Given the description of an element on the screen output the (x, y) to click on. 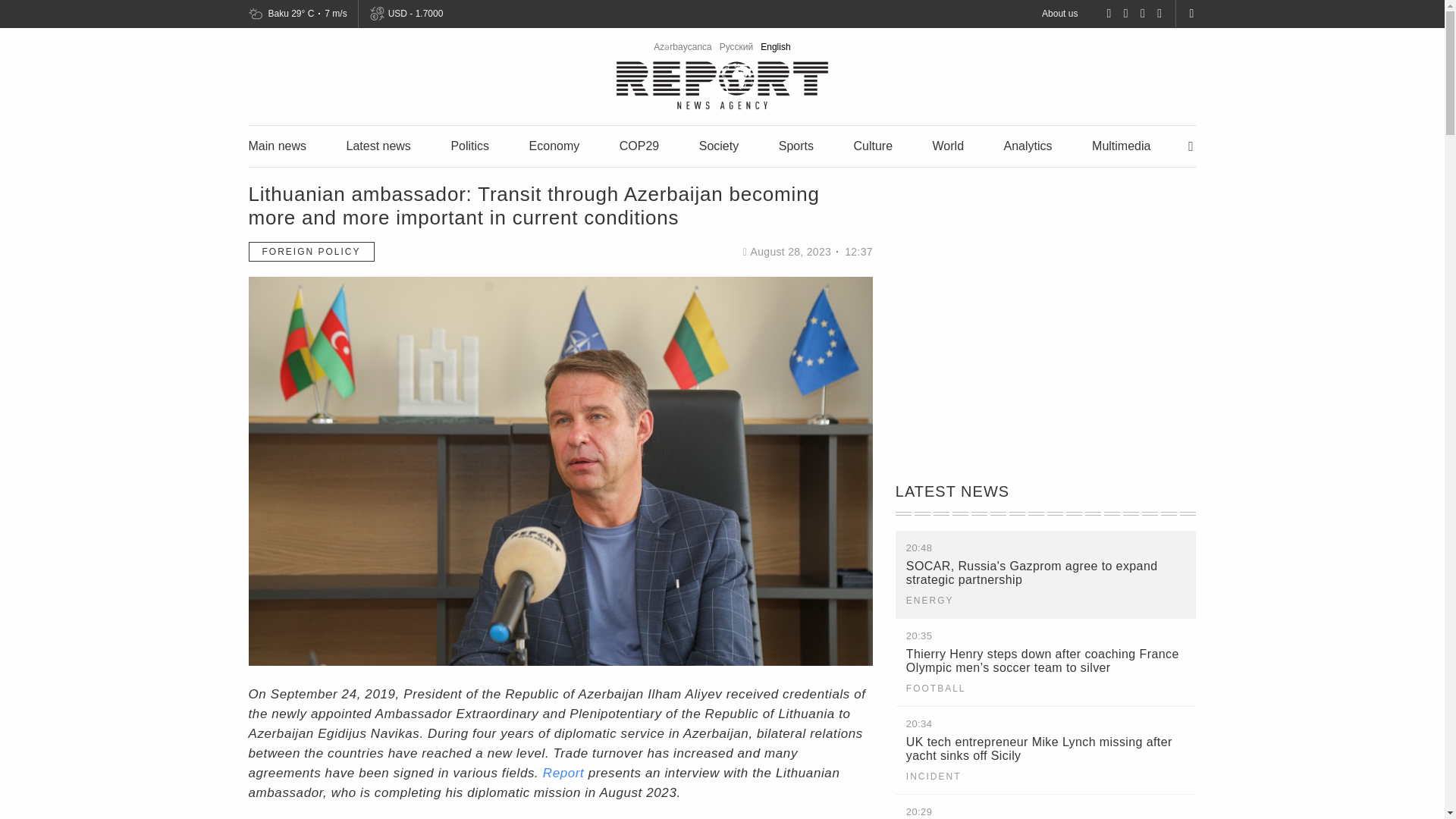
English (775, 46)
Culture (872, 145)
Sports (795, 145)
Economy (554, 145)
COP29 (639, 145)
Latest news (378, 145)
Analytics (1028, 145)
About us (1059, 13)
USD - 1.7000 (414, 13)
